Given the description of an element on the screen output the (x, y) to click on. 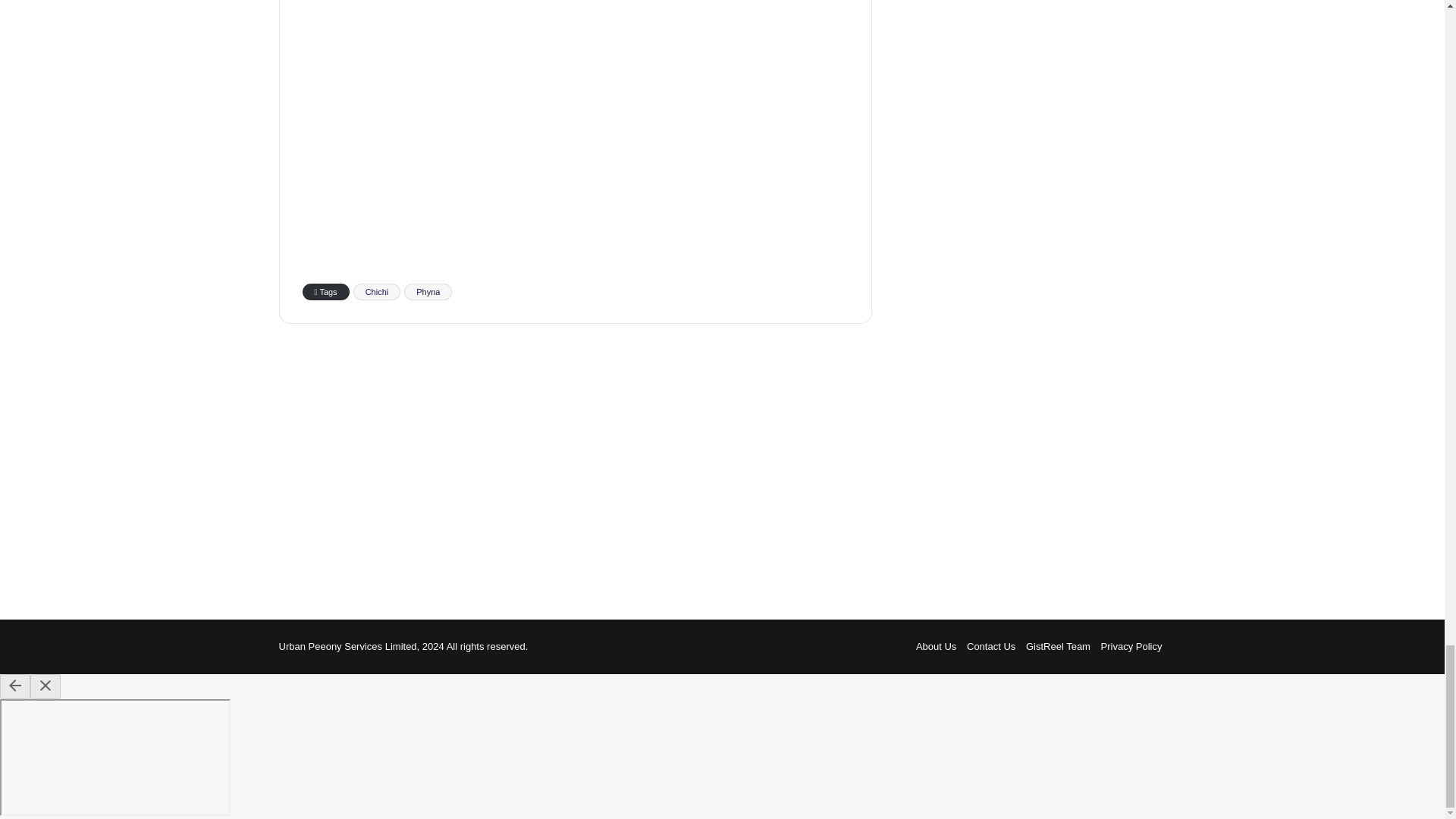
Contact Us (990, 645)
Chichi (377, 291)
Privacy Policy (1130, 645)
Phyna (427, 291)
GistReel Team (1058, 645)
About Us (935, 645)
